Given the description of an element on the screen output the (x, y) to click on. 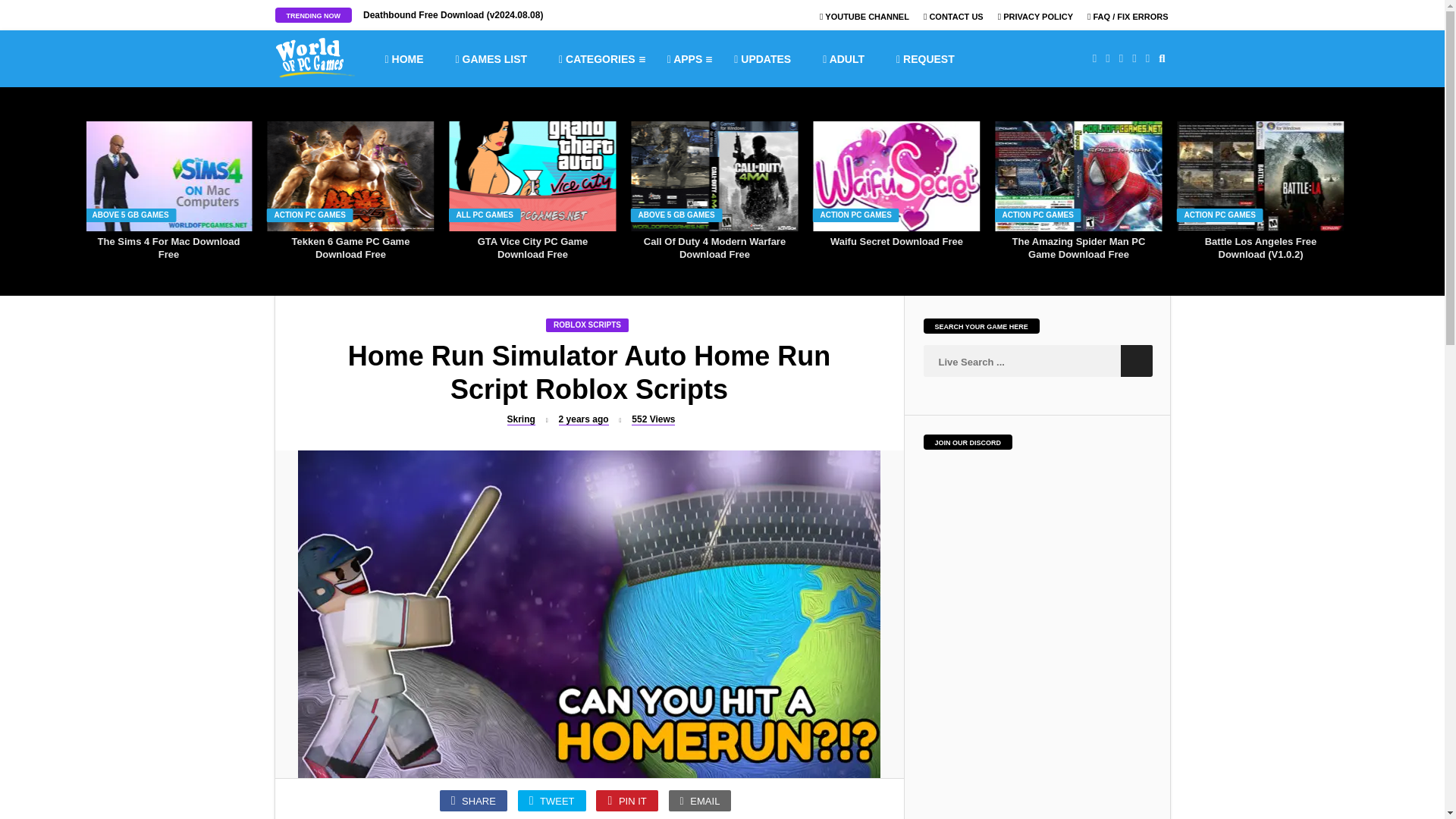
View all posts in All PC Games (485, 214)
Search (1137, 360)
PRIVACY POLICY (1035, 16)
View all posts in Action PC Games (856, 214)
View all posts in Above 5 GB Games (676, 214)
View all posts in Action PC Games (1038, 214)
View all posts in Above 5 GB Games (130, 214)
View all posts in Action PC Games (310, 214)
View all posts in Action PC Games (1220, 214)
HOME (402, 58)
